Given the description of an element on the screen output the (x, y) to click on. 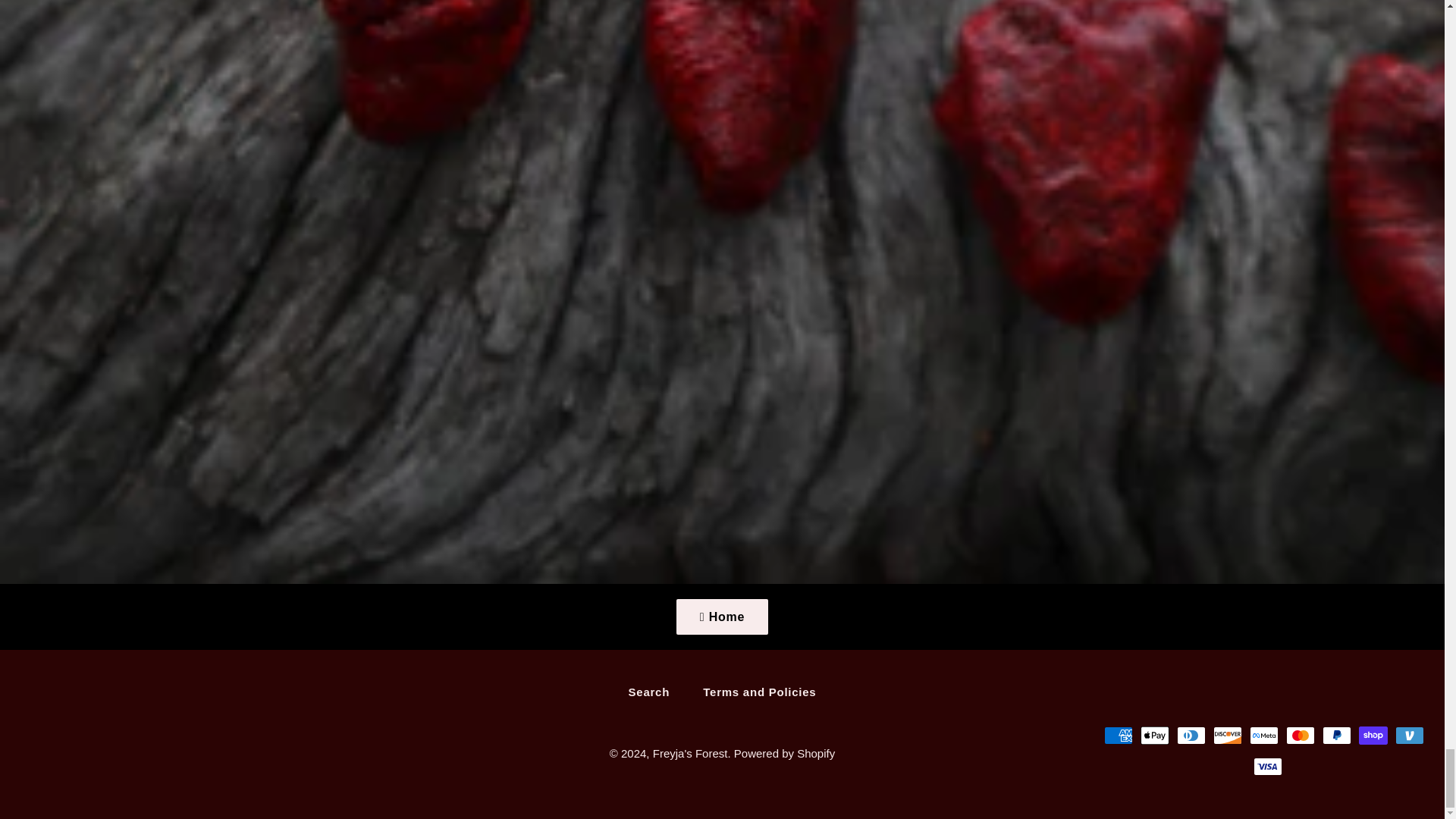
Powered by Shopify (783, 753)
PayPal (1336, 735)
American Express (1117, 735)
Diners Club (1190, 735)
Freyja's Forest (690, 753)
Apple Pay (1154, 735)
Terms and Policies (759, 691)
Venmo (1408, 735)
Discover (1226, 735)
Mastercard (1299, 735)
Shop Pay (1372, 735)
Visa (1267, 766)
Meta Pay (1263, 735)
Home (722, 616)
Search (648, 691)
